Given the description of an element on the screen output the (x, y) to click on. 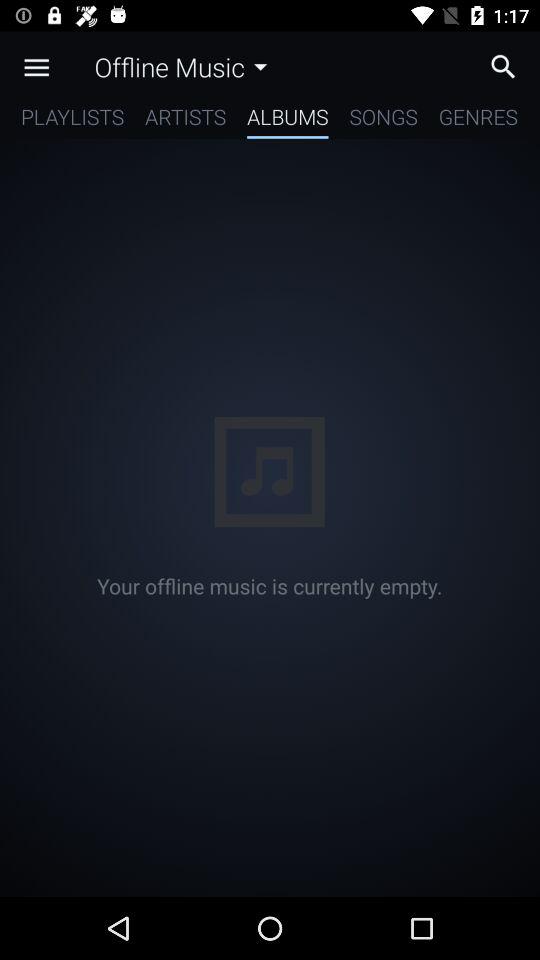
choose app to the left of artists icon (72, 120)
